Given the description of an element on the screen output the (x, y) to click on. 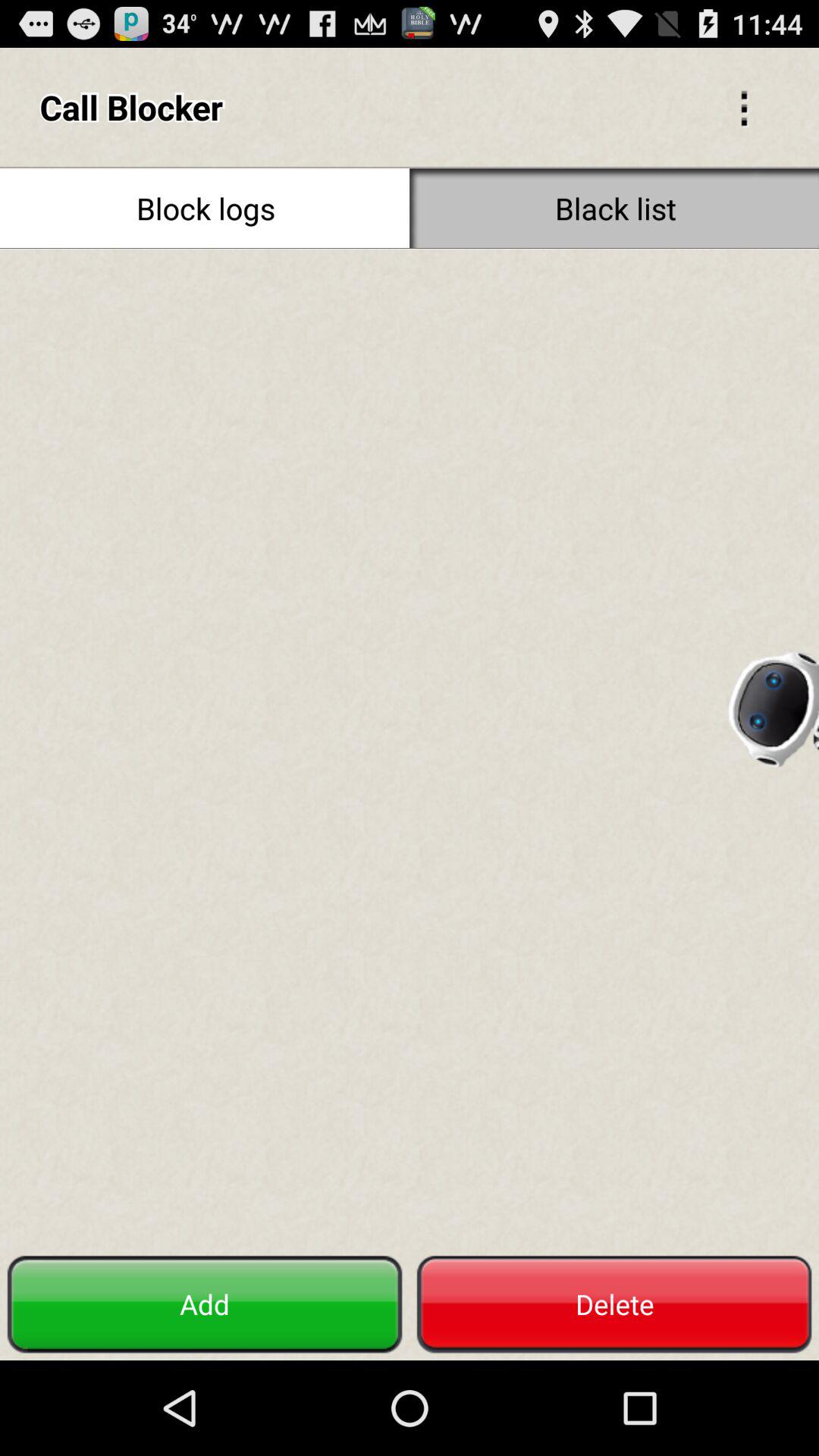
go back (744, 107)
